Given the description of an element on the screen output the (x, y) to click on. 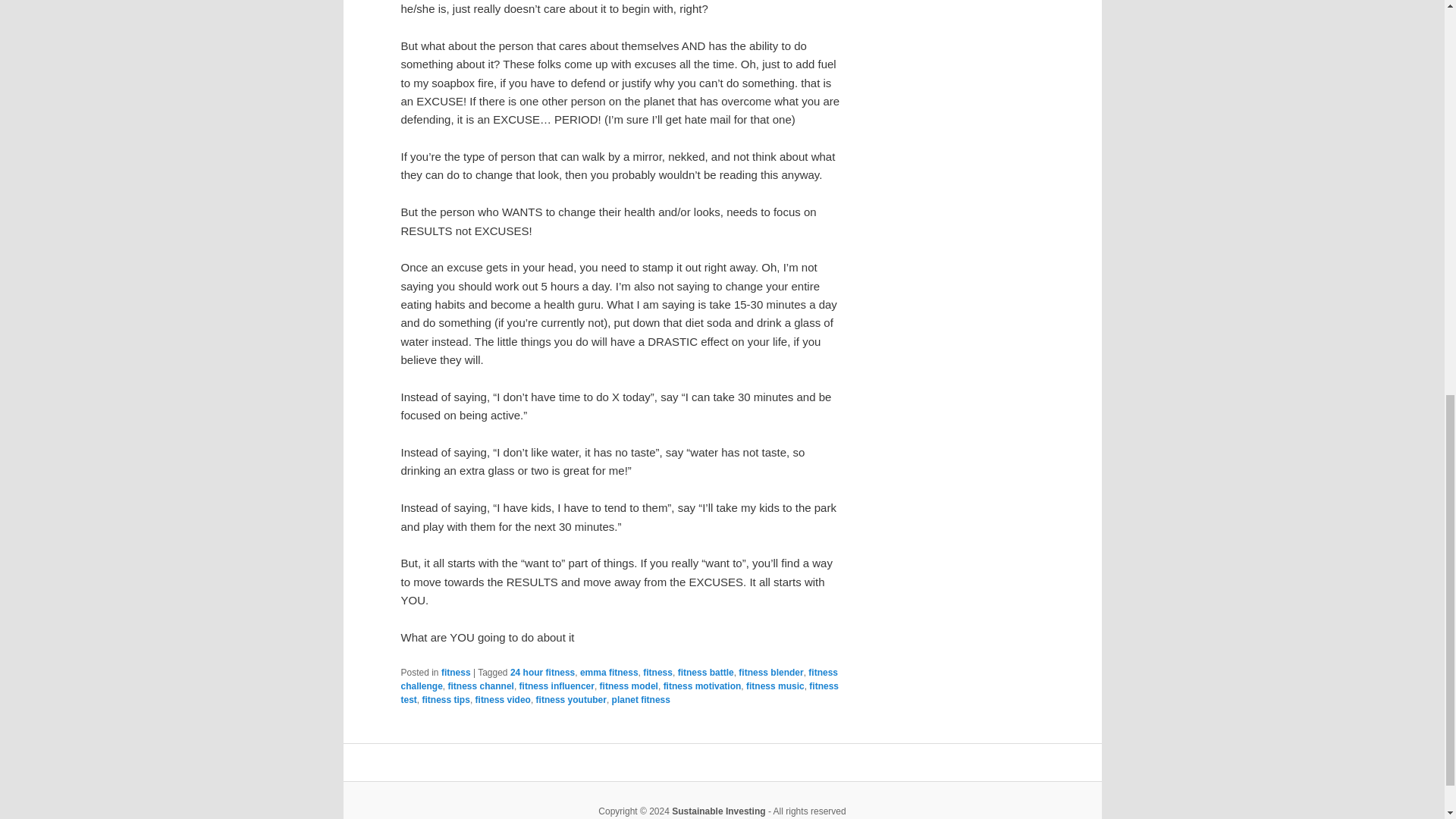
fitness blender (770, 672)
fitness (657, 672)
Sustainable Investing (718, 810)
fitness video (503, 699)
fitness youtuber (571, 699)
fitness music (775, 685)
fitness battle (705, 672)
emma fitness (609, 672)
fitness motivation (702, 685)
fitness channel (480, 685)
